Given the description of an element on the screen output the (x, y) to click on. 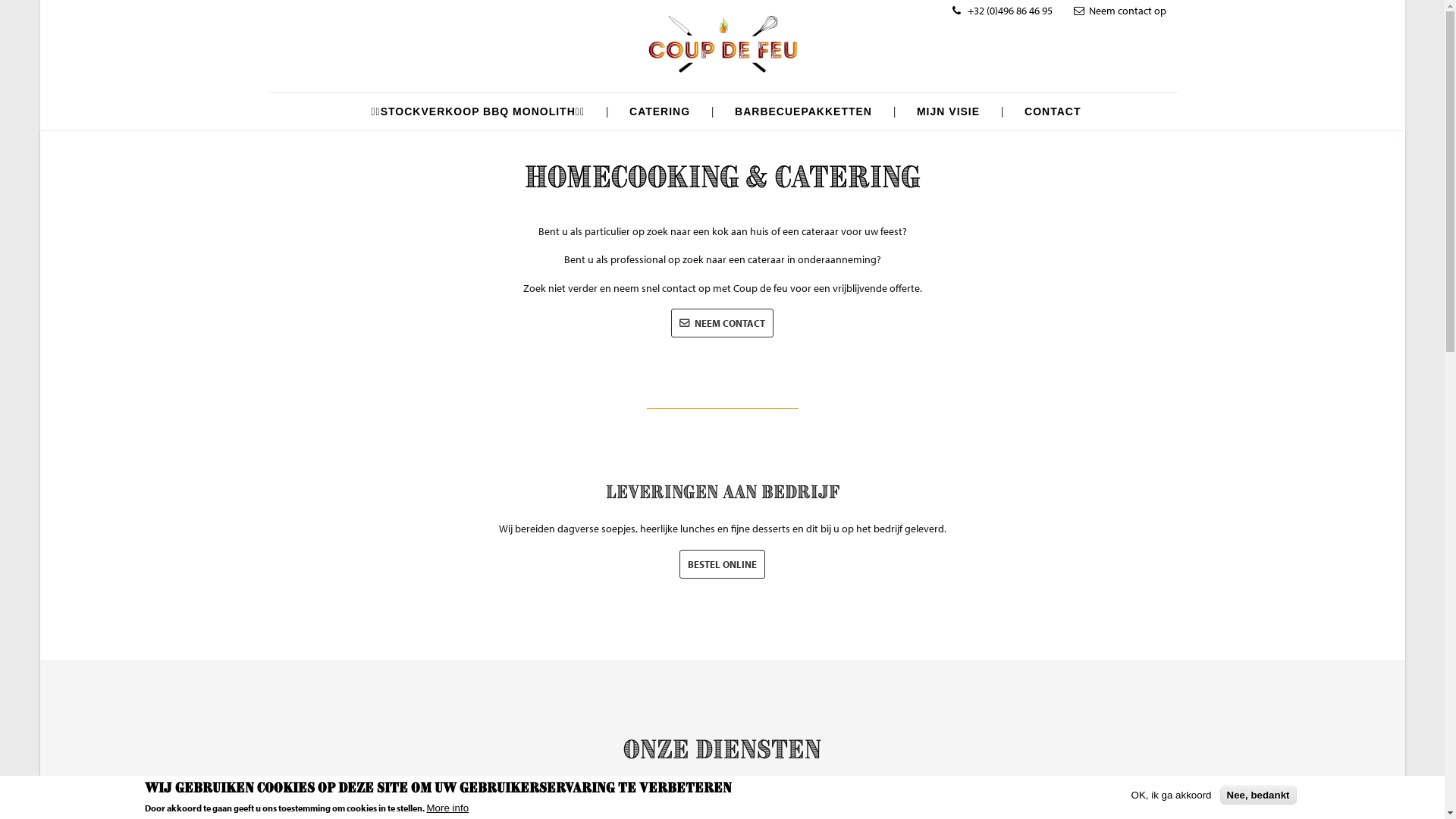
Overslaan en naar de inhoud gaan Element type: text (0, 0)
CONTACT Element type: text (1048, 111)
NEEM CONTACT Element type: text (722, 322)
OK, ik ga akkoord Element type: text (1171, 794)
MIJN VISIE Element type: text (948, 111)
Nee, bedankt Element type: text (1258, 794)
Home Element type: hover (722, 76)
BARBECUEPAKKETTEN Element type: text (803, 111)
CATERING Element type: text (659, 111)
More info Element type: text (447, 807)
BESTEL ONLINE Element type: text (722, 563)
+32 (0)496 86 46 95 Element type: text (1002, 10)
Neem contact op Element type: text (1119, 10)
